Given the description of an element on the screen output the (x, y) to click on. 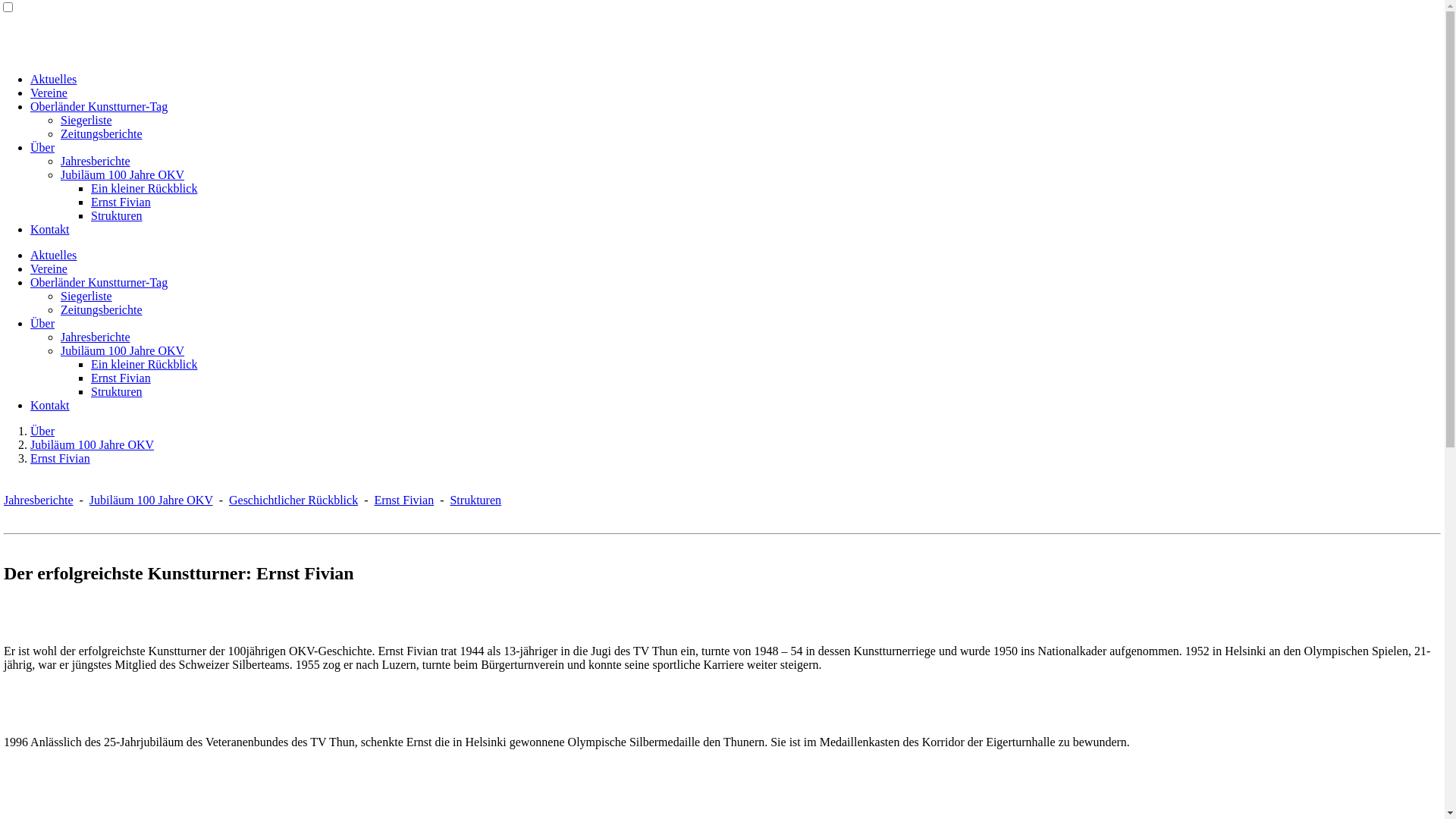
Ernst Fivian Element type: text (120, 377)
Aktuelles Element type: text (53, 78)
Strukturen Element type: text (475, 499)
Vereine Element type: text (48, 268)
Kontakt Element type: text (49, 404)
Strukturen Element type: text (116, 215)
Ernst Fivian Element type: text (60, 457)
Zeitungsberichte Element type: text (101, 133)
Jahresberichte Element type: text (95, 336)
Siegerliste Element type: text (86, 295)
Ernst Fivian Element type: text (120, 201)
Ernst Fivian Element type: text (403, 499)
Zeitungsberichte Element type: text (101, 309)
Aktuelles Element type: text (53, 254)
Strukturen Element type: text (116, 391)
Jahresberichte Element type: text (38, 499)
Siegerliste Element type: text (86, 119)
Kontakt Element type: text (49, 228)
Jahresberichte Element type: text (95, 160)
Vereine Element type: text (48, 92)
